Given the description of an element on the screen output the (x, y) to click on. 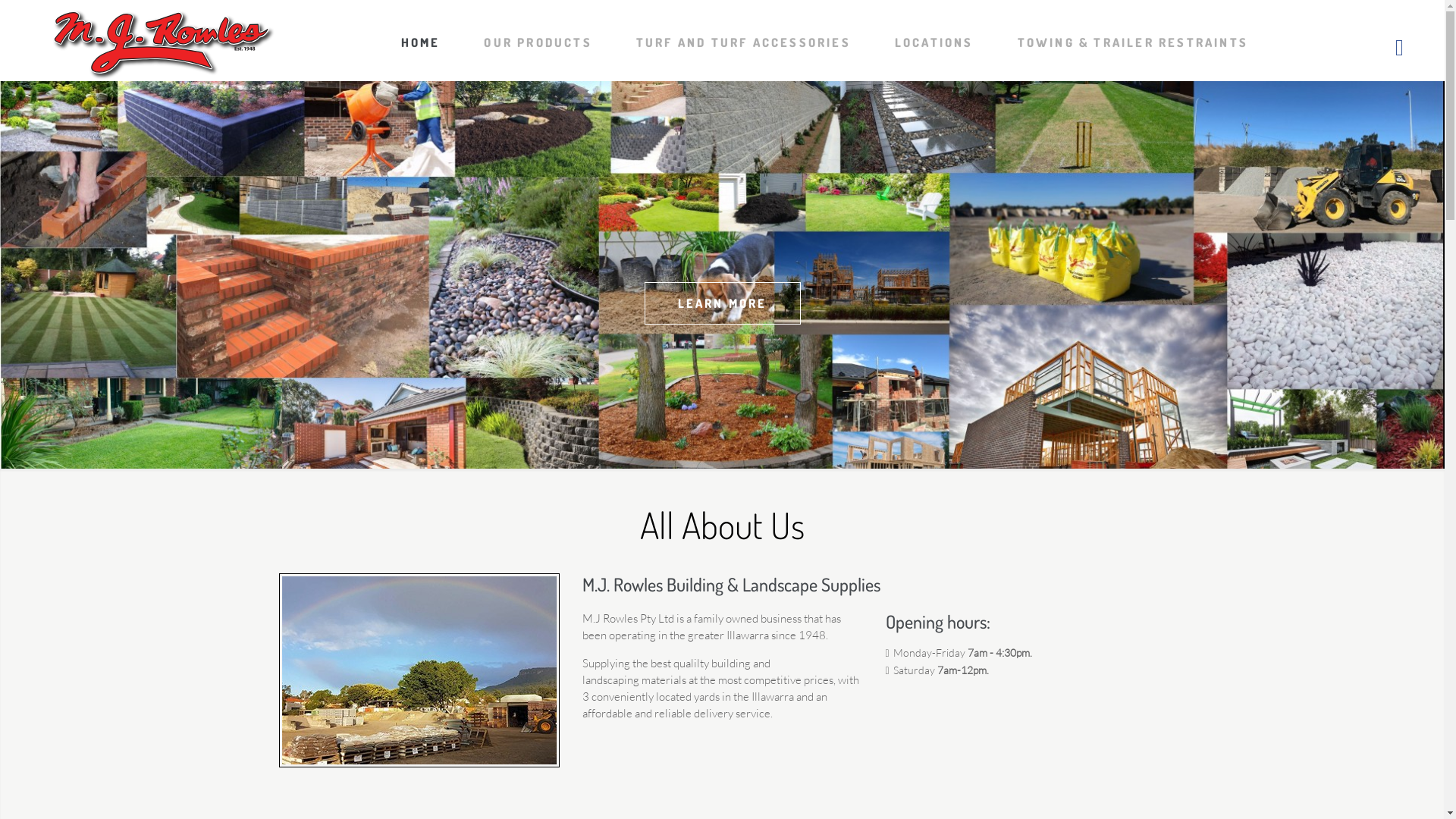
LOCATIONS Element type: text (933, 40)
LEARN MORE Element type: text (722, 303)
HOME Element type: text (420, 40)
Visit our FACEBOOK page Element type: hover (1399, 46)
TOWING & TRAILER RESTRAINTS Element type: text (1132, 40)
OUR PRODUCTS Element type: text (537, 40)
TURF AND TURF ACCESSORIES Element type: text (743, 40)
